Given the description of an element on the screen output the (x, y) to click on. 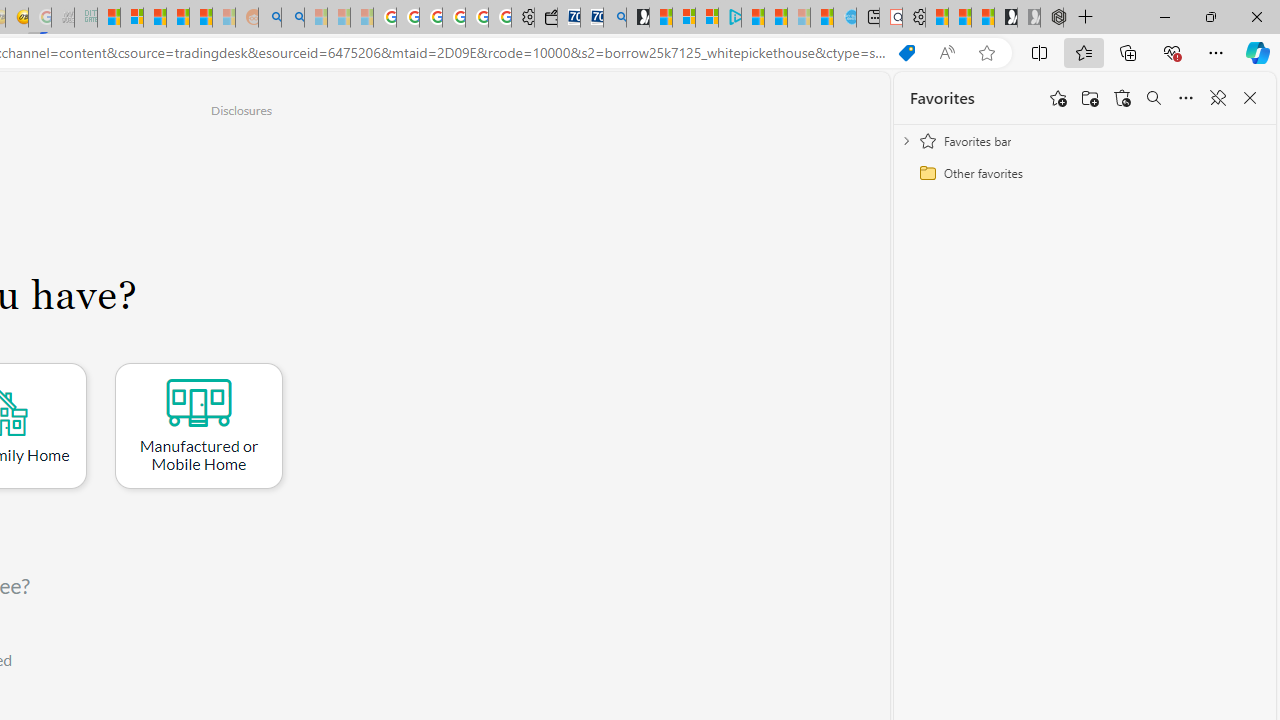
Cheap Car Rentals - Save70.com (591, 17)
DITOGAMES AG Imprint - Sleeping (86, 17)
Navy Quest (63, 17)
Nordace - Nordace Siena Is Not An Ordinary Backpack (1051, 17)
Utah sues federal government - Search (292, 17)
